Given the description of an element on the screen output the (x, y) to click on. 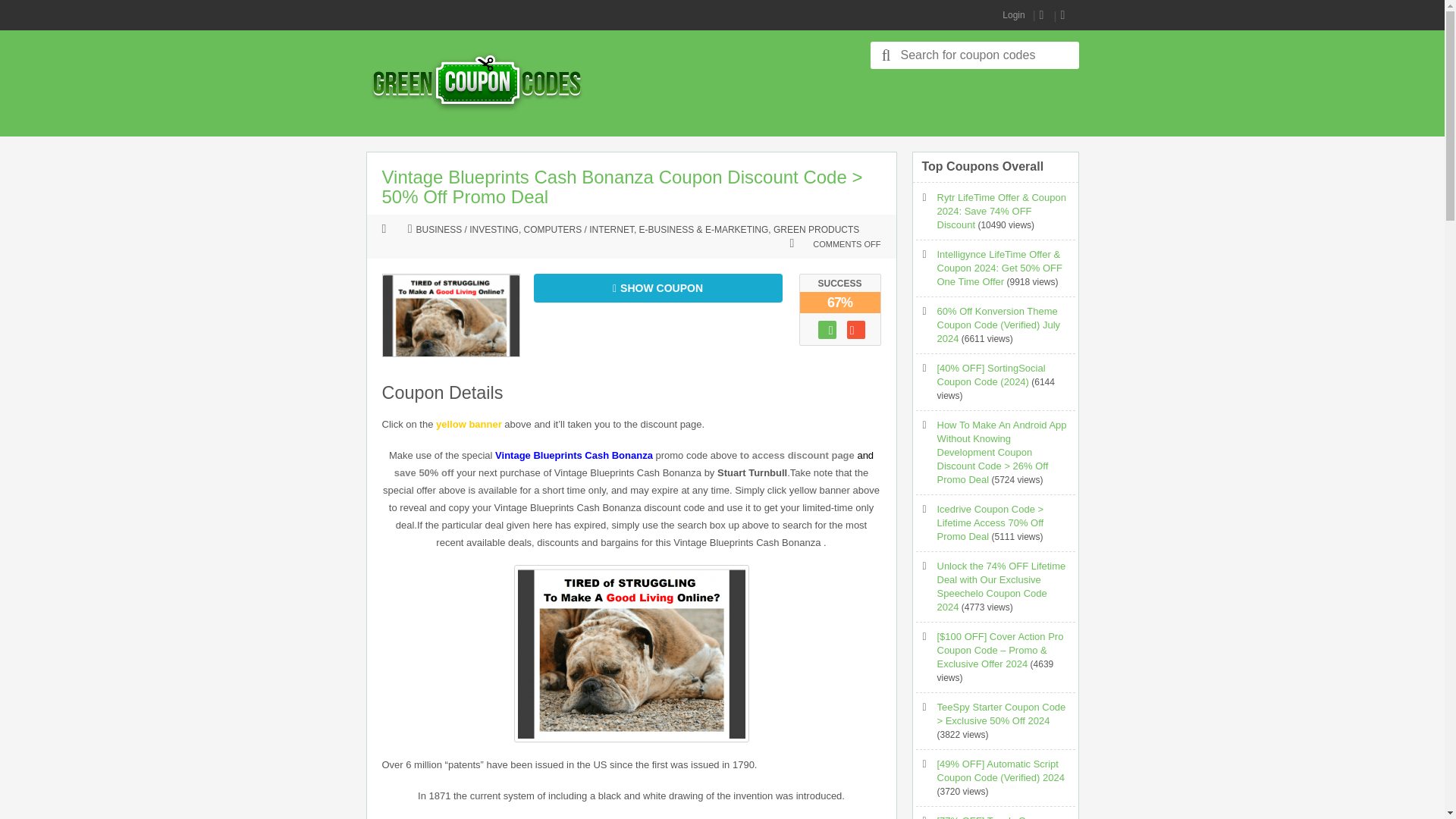
GREEN PRODUCTS (816, 230)
Login (1014, 14)
SHOW COUPON (658, 287)
